Given the description of an element on the screen output the (x, y) to click on. 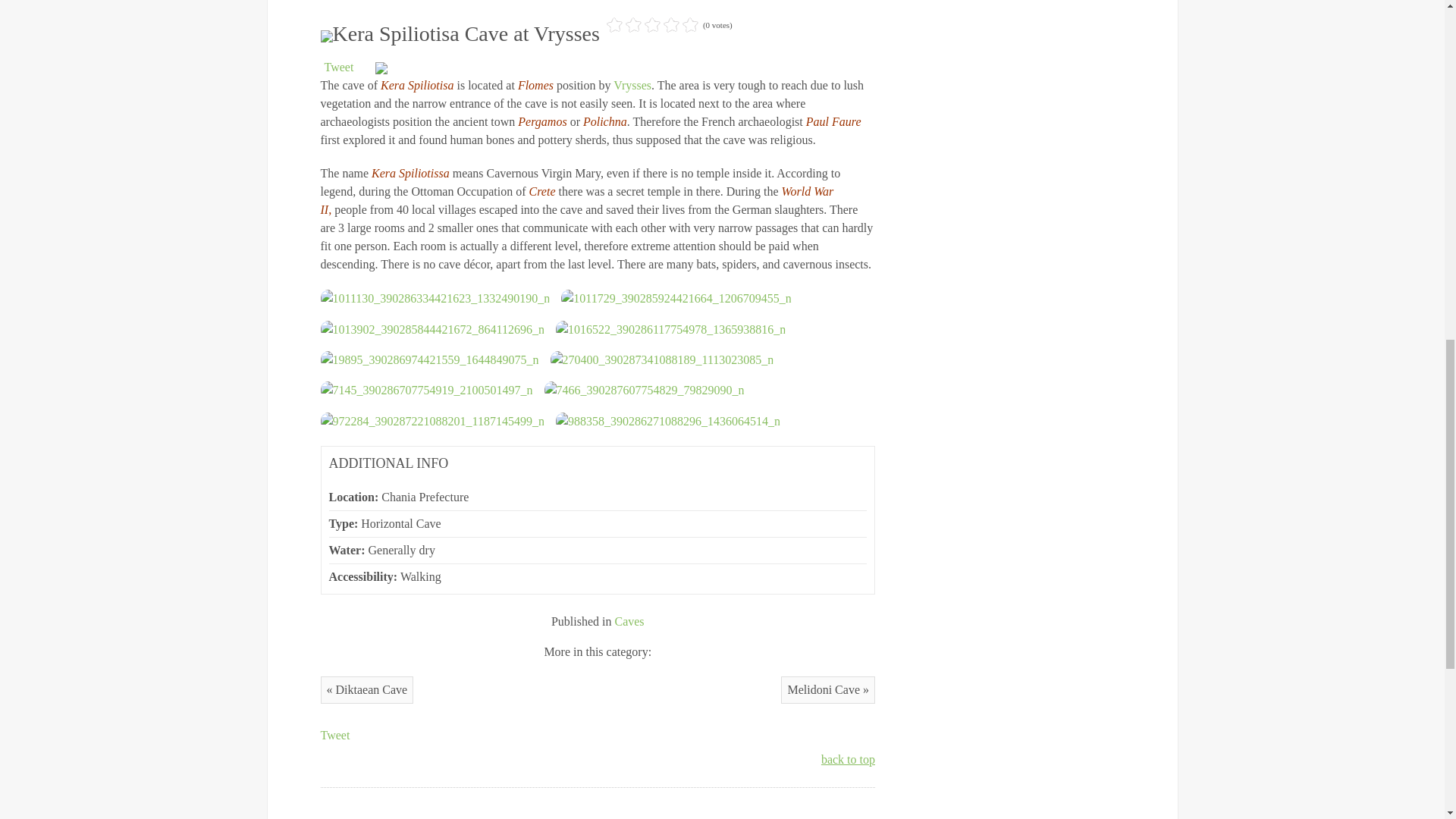
5 stars out of 5 (652, 25)
2 stars out of 5 (624, 25)
3 stars out of 5 (633, 25)
1 star out of 5 (614, 25)
4 stars out of 5 (643, 25)
